Given the description of an element on the screen output the (x, y) to click on. 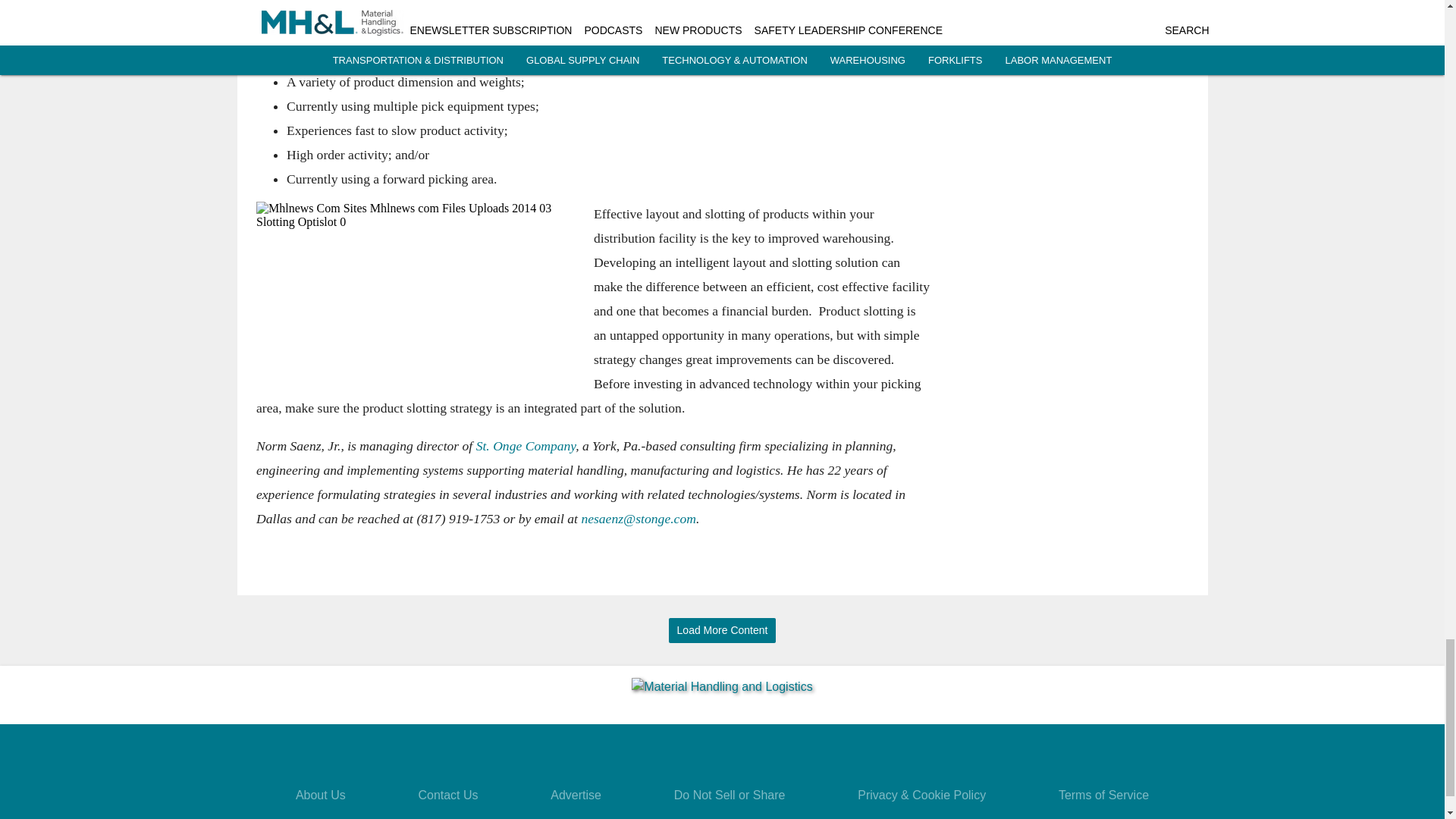
Contact Us (447, 794)
Load More Content (722, 630)
St. Onge Company (525, 445)
About Us (320, 794)
